Given the description of an element on the screen output the (x, y) to click on. 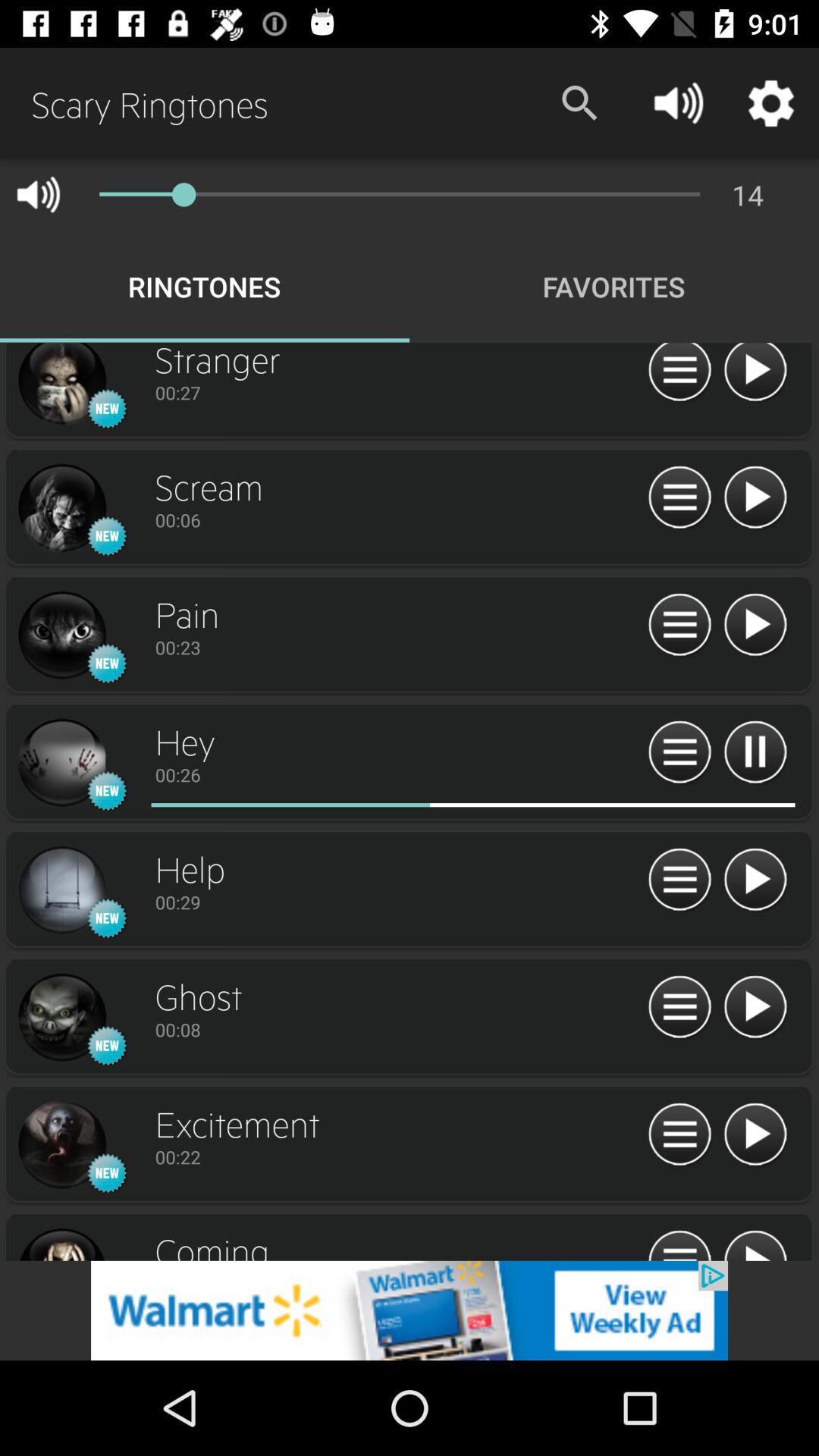
go to queue option (679, 1007)
